Given the description of an element on the screen output the (x, y) to click on. 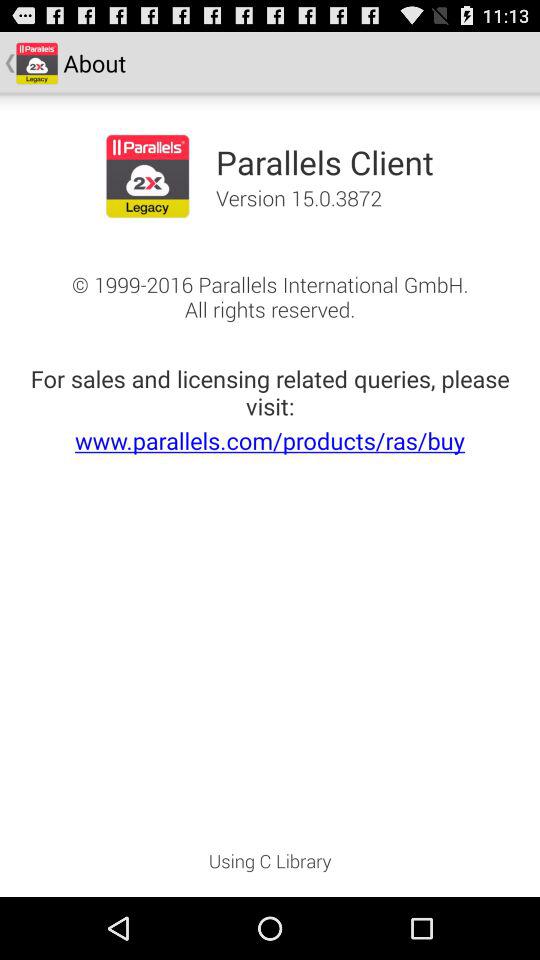
flip to using c library app (269, 867)
